Given the description of an element on the screen output the (x, y) to click on. 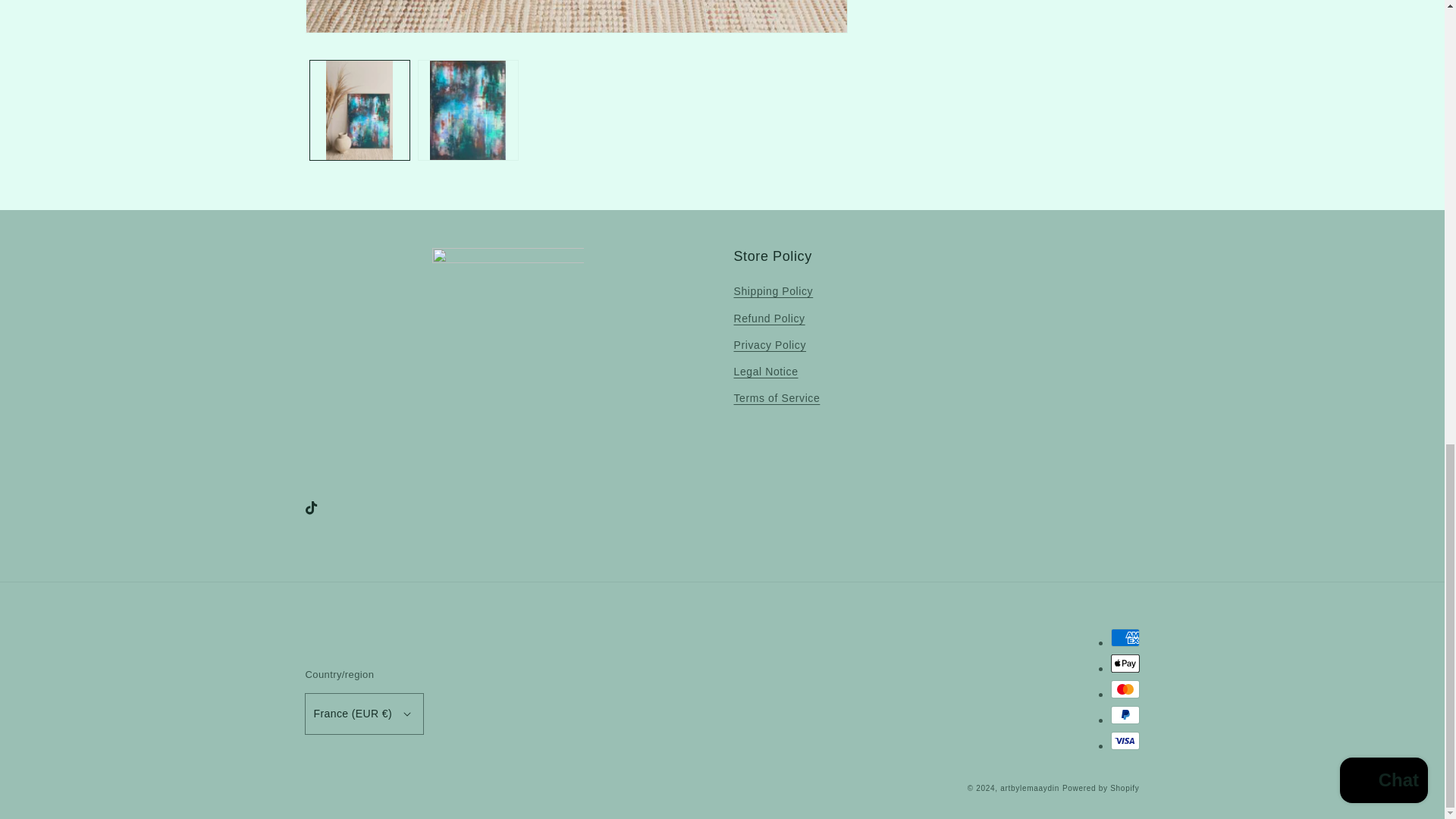
Visa (1123, 741)
PayPal (1123, 714)
Apple Pay (1123, 663)
American Express (1123, 637)
Mastercard (1123, 689)
